Given the description of an element on the screen output the (x, y) to click on. 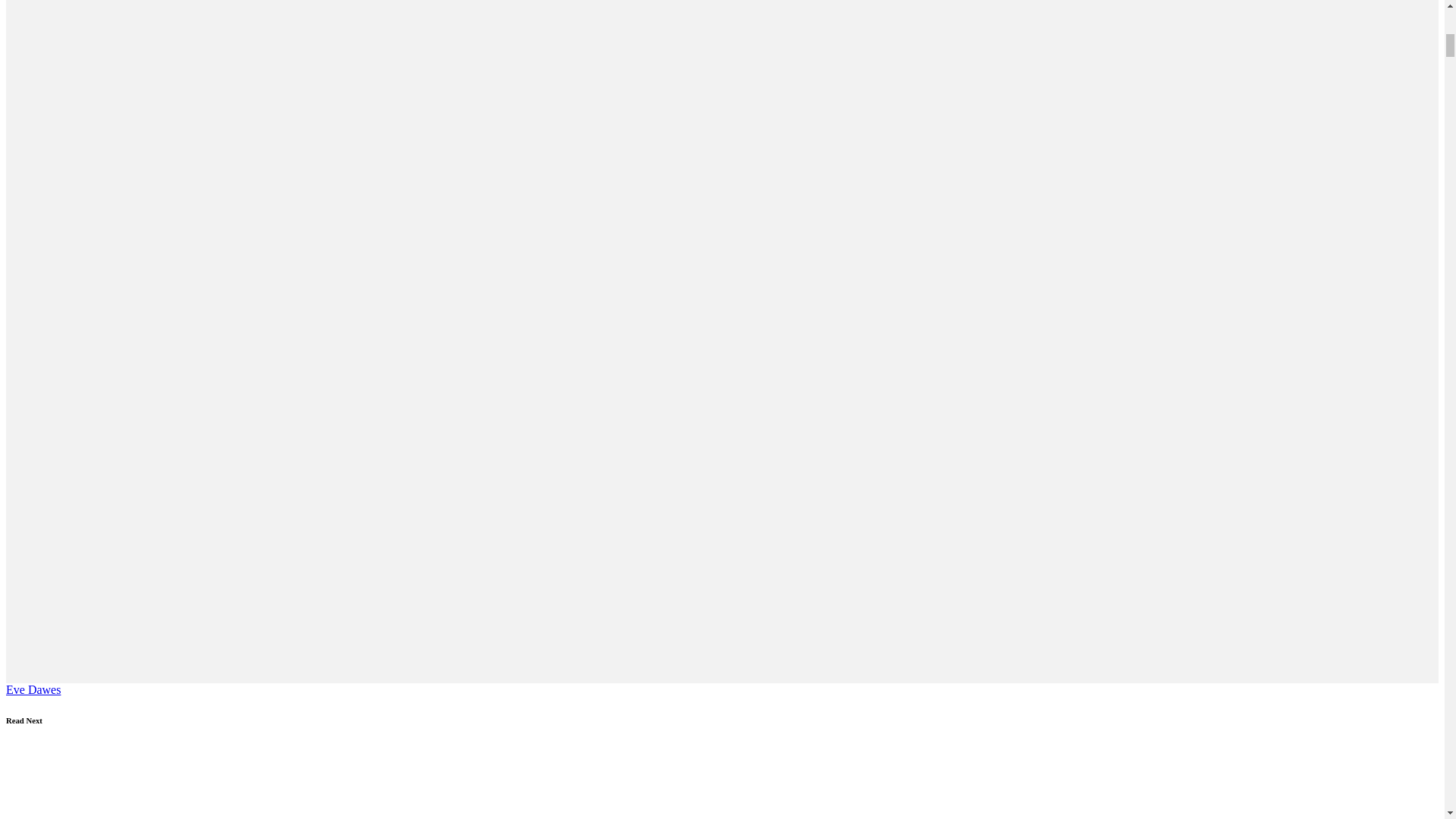
Eve Dawes (33, 689)
